Given the description of an element on the screen output the (x, y) to click on. 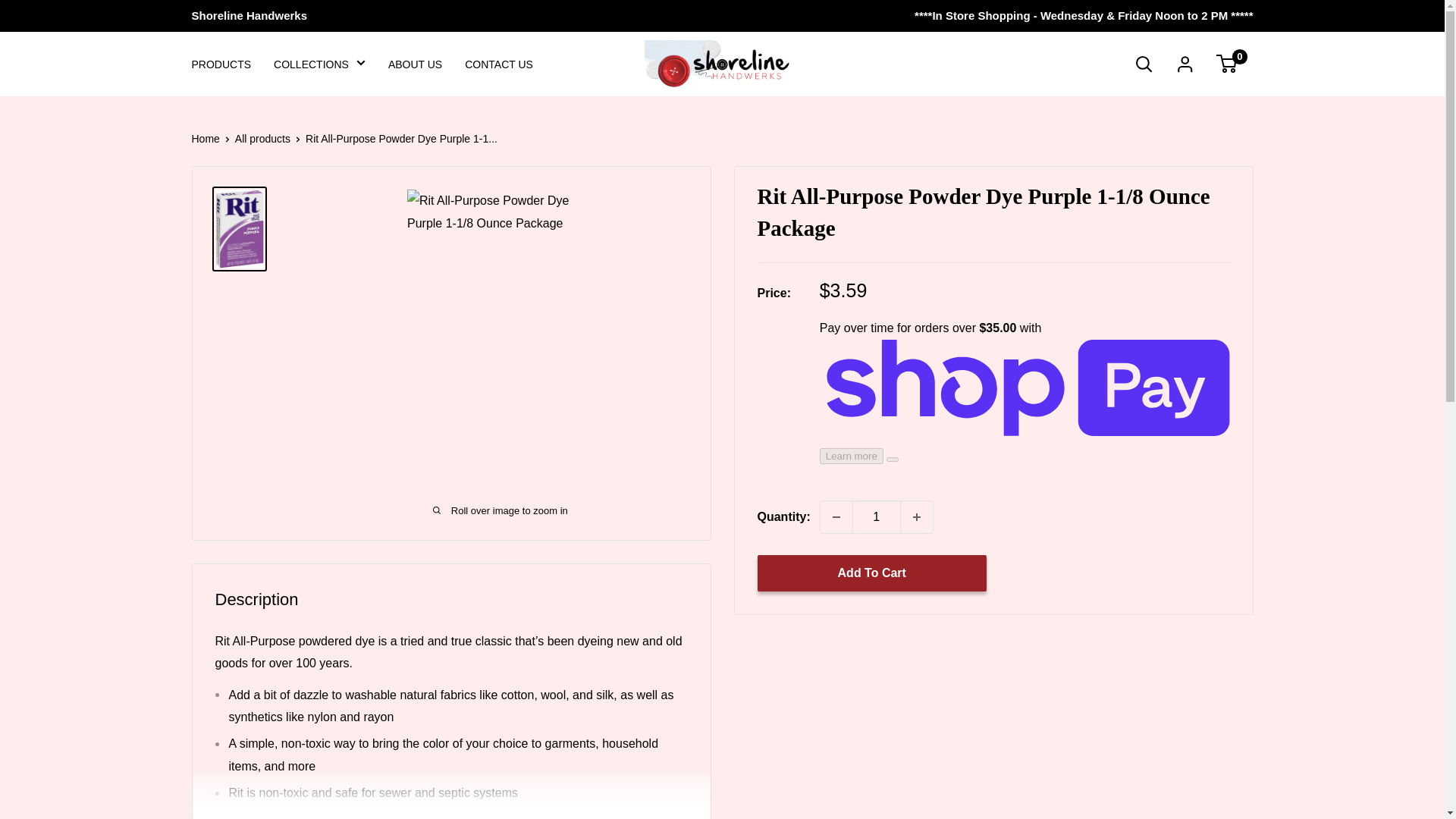
ABOUT US (415, 64)
1 (876, 517)
shorelinehandwerks (720, 63)
Decrease quantity by 1 (836, 517)
PRODUCTS (220, 64)
Increase quantity by 1 (917, 517)
COLLECTIONS (319, 64)
CONTACT US (498, 64)
